Given the description of an element on the screen output the (x, y) to click on. 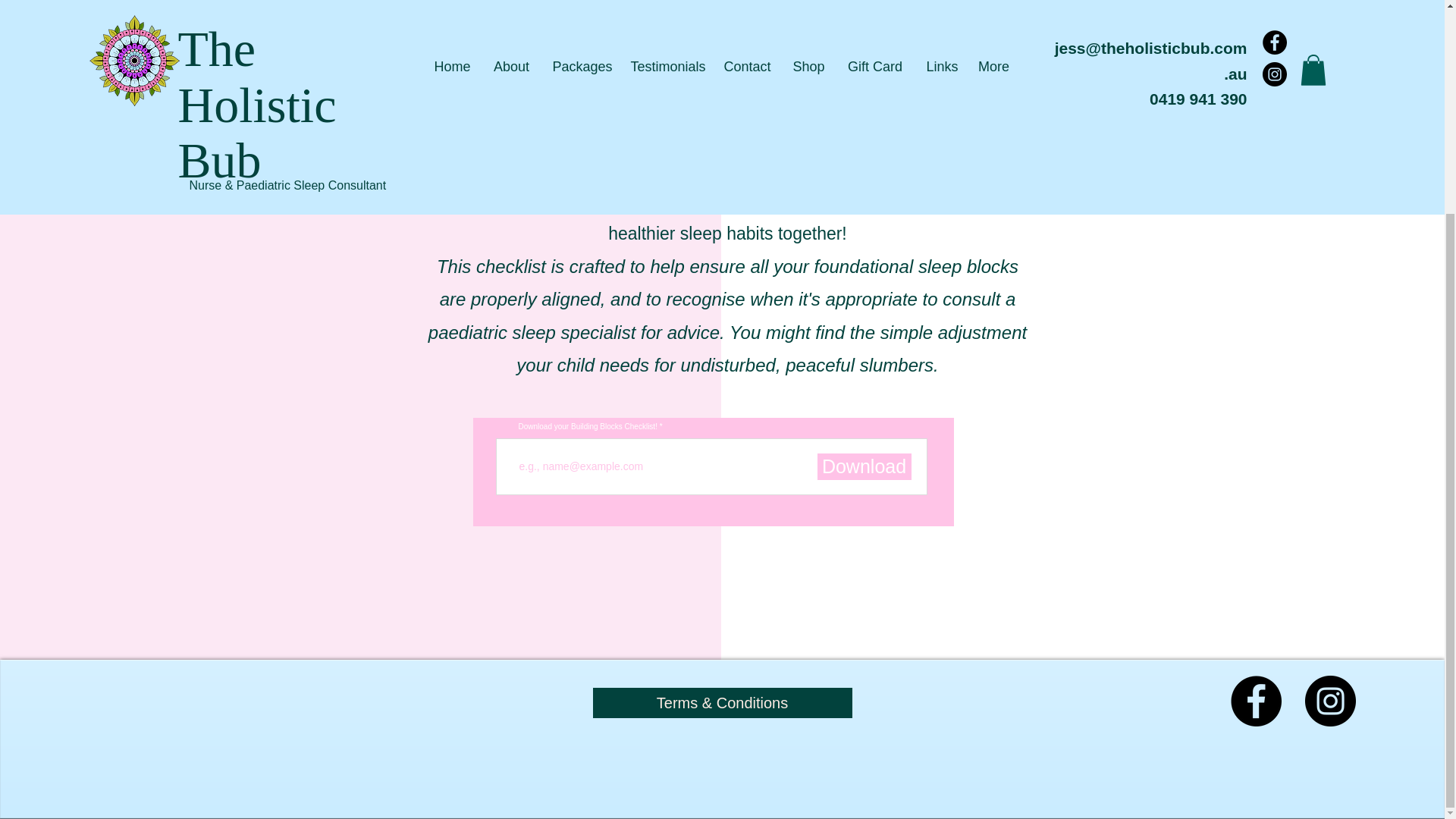
Download (863, 466)
